Given the description of an element on the screen output the (x, y) to click on. 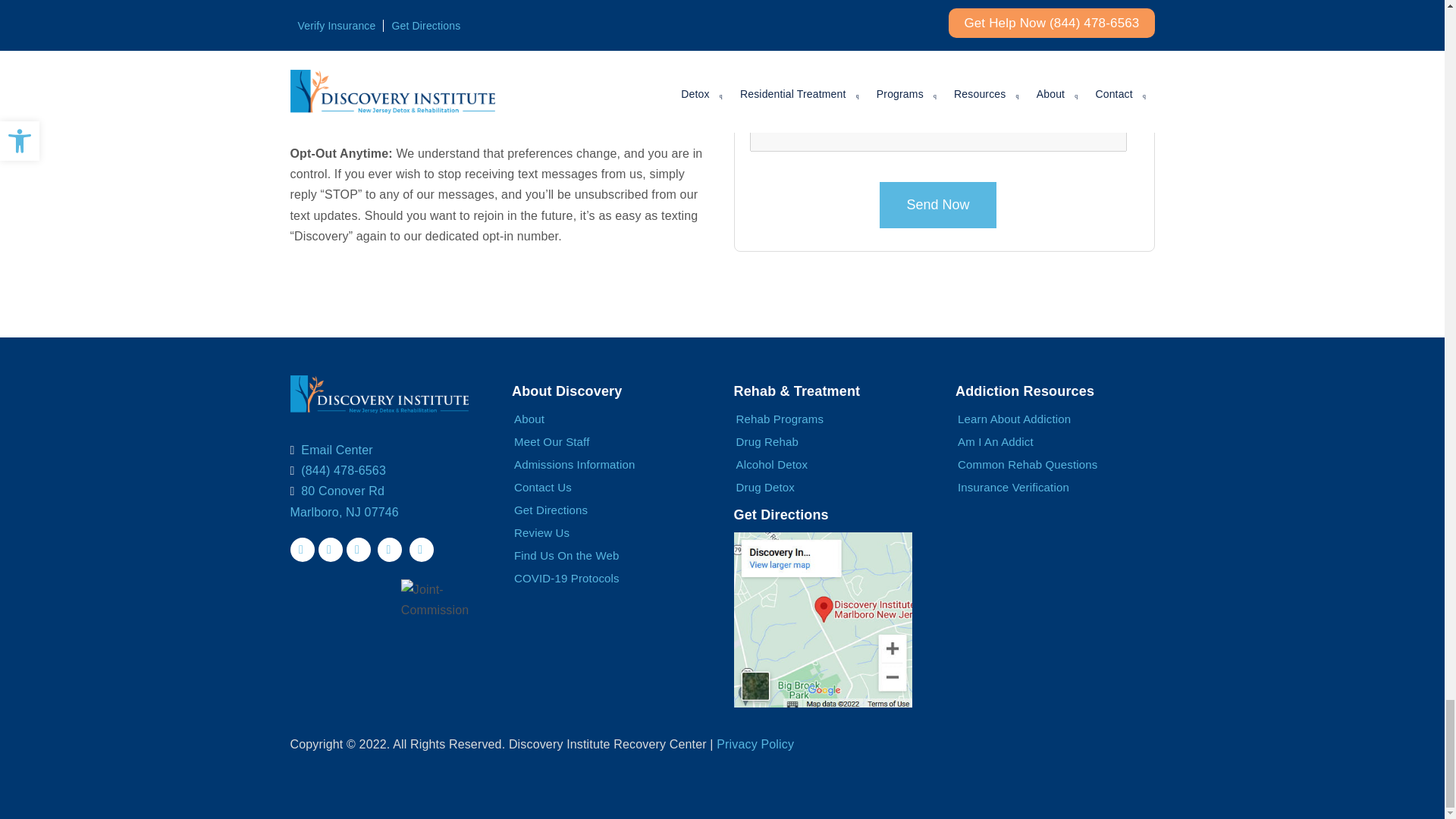
Send Now (937, 204)
